Given the description of an element on the screen output the (x, y) to click on. 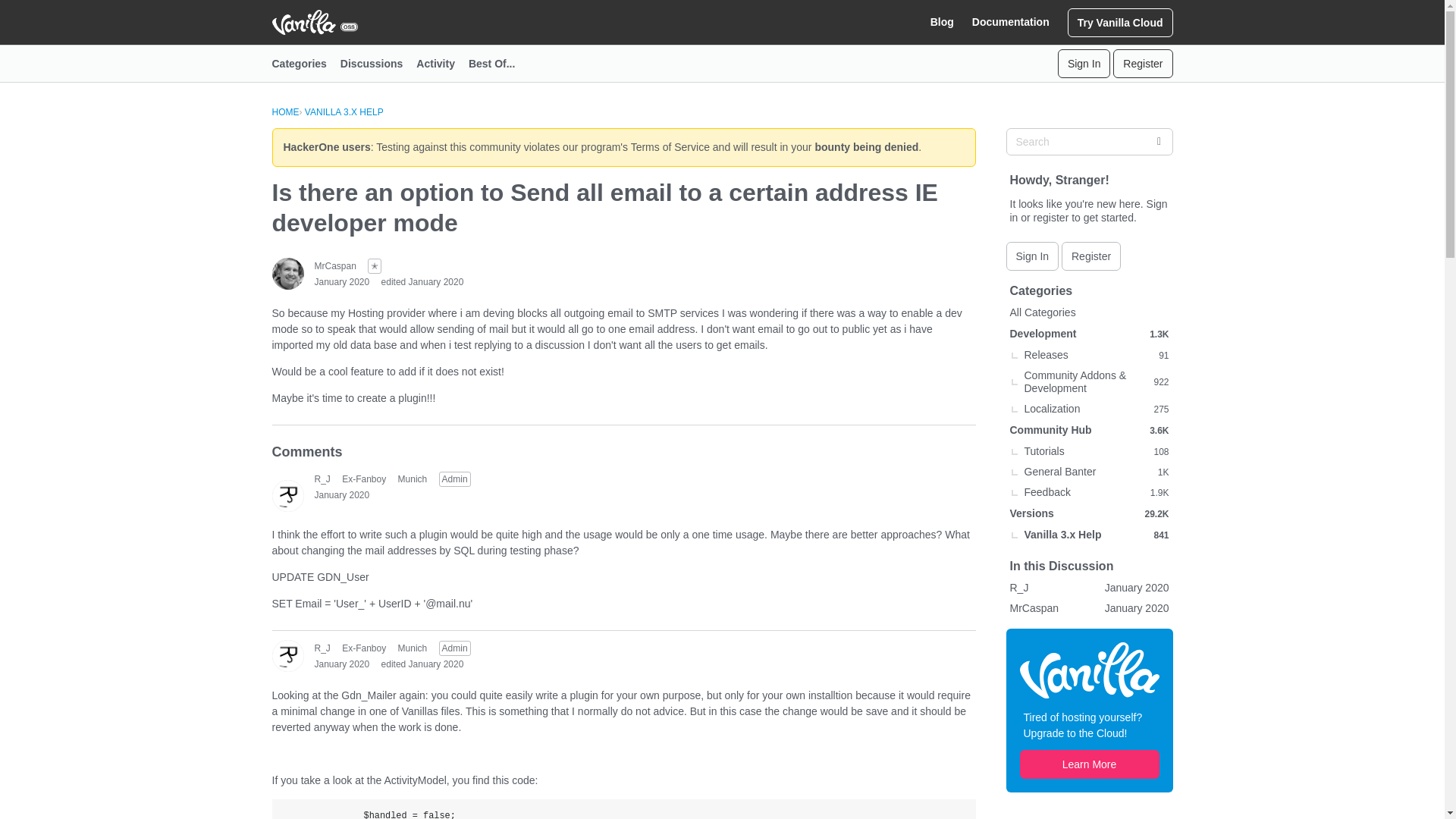
January 2020 (341, 664)
January 31, 2020 1:17PM (341, 664)
Try Vanilla Cloud (1120, 21)
Go (1158, 141)
January 2020 (341, 281)
Vanilla (1088, 669)
January 2020 (341, 494)
MrCaspan (286, 273)
Register (1142, 63)
Discussions (378, 63)
VANILLA 3.X HELP (344, 112)
Best Of... (498, 63)
January 30, 2020 6:45PM (341, 281)
MrCaspan (334, 265)
Administrator (454, 478)
